Given the description of an element on the screen output the (x, y) to click on. 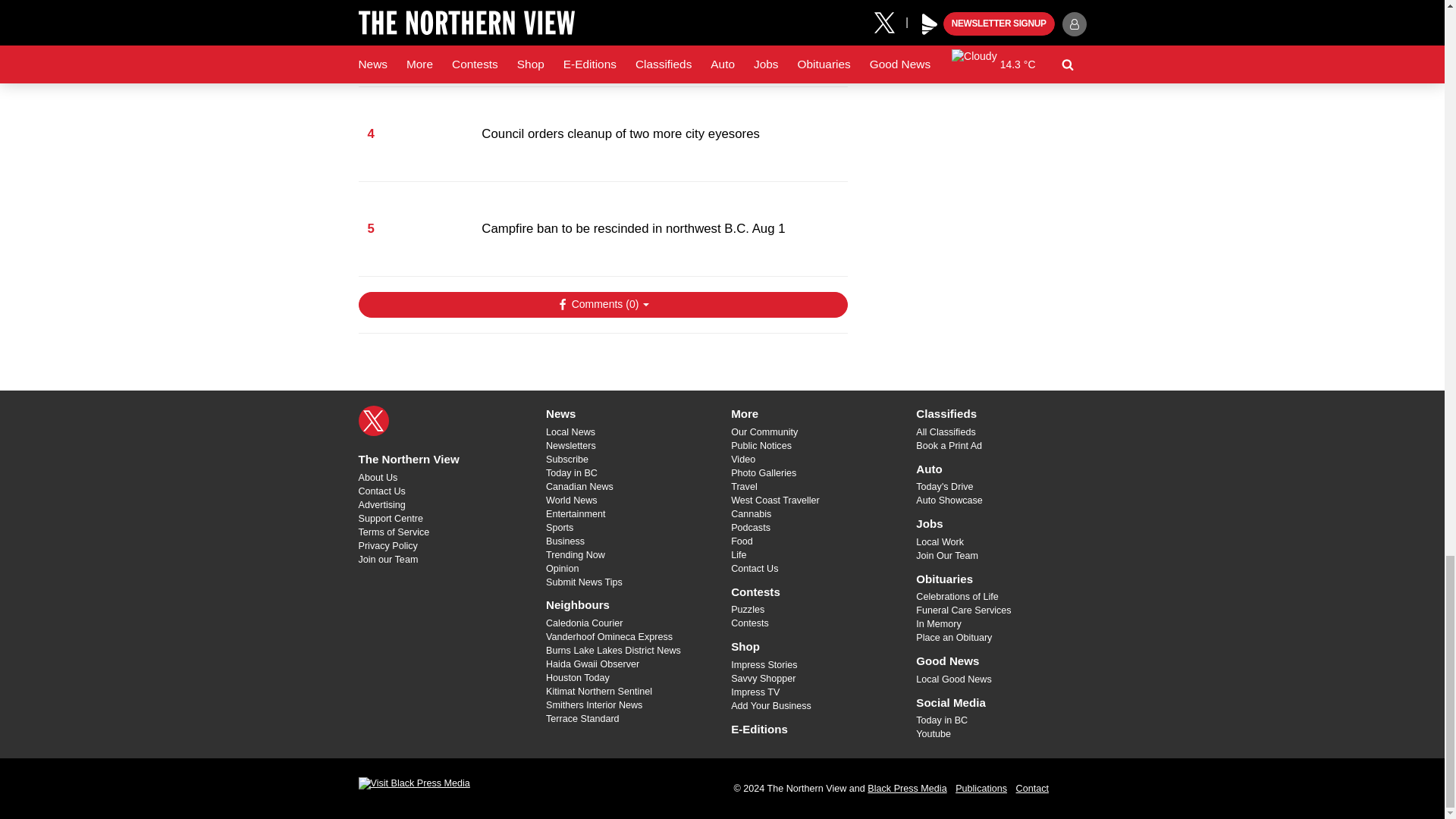
Show Comments (602, 304)
X (373, 420)
